Given the description of an element on the screen output the (x, y) to click on. 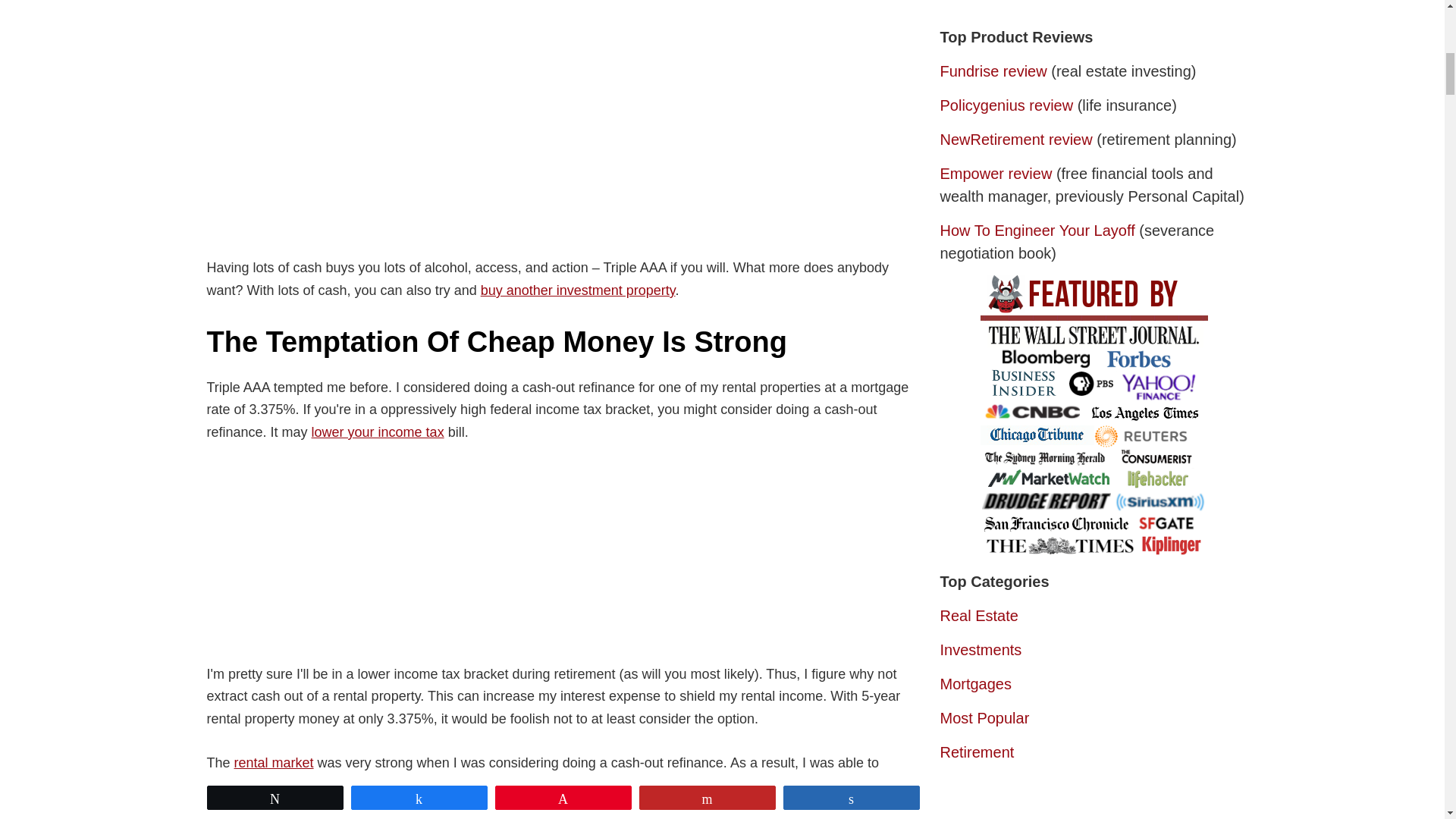
buy another investment property (577, 290)
rental market (274, 762)
lower your income tax (377, 432)
